Given the description of an element on the screen output the (x, y) to click on. 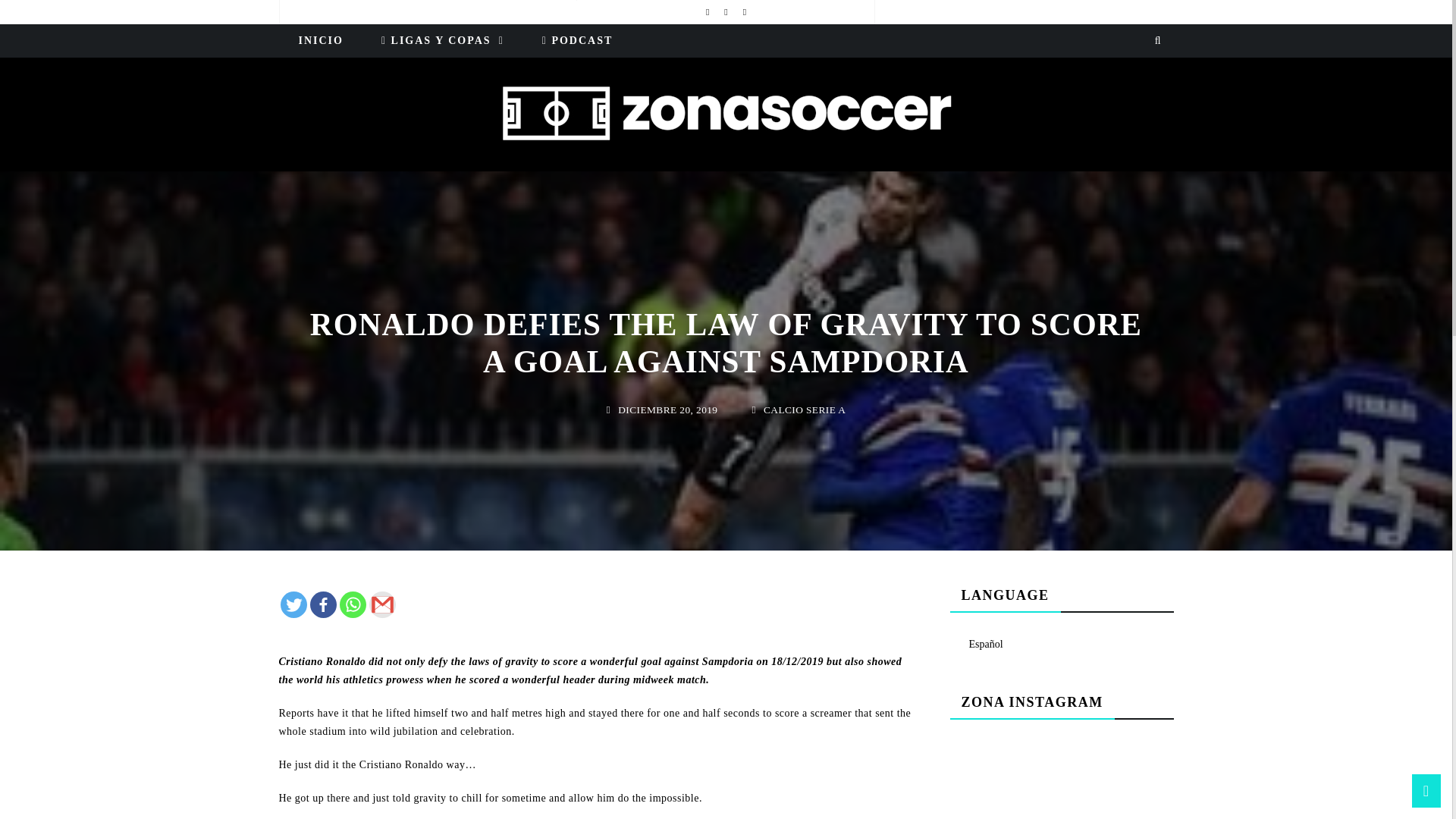
Facebook (322, 604)
INICIO (320, 40)
Twitter (294, 604)
CALCIO SERIE A (781, 398)
Whatsapp (352, 604)
Advertisement (1062, 788)
View all posts in Calcio Serie A (781, 398)
Google Gmail (381, 604)
